Given the description of an element on the screen output the (x, y) to click on. 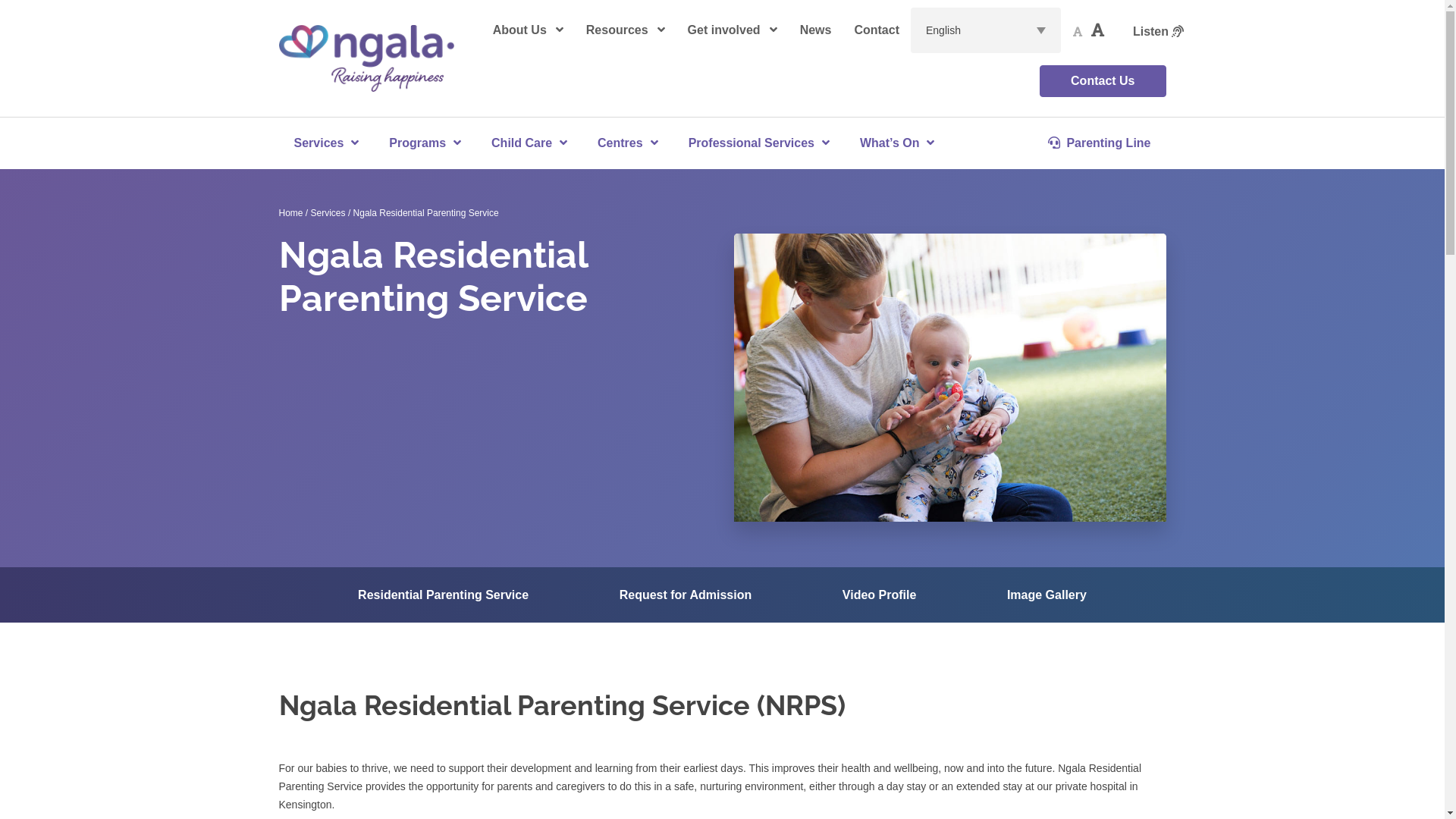
Image Gallery Element type: text (1046, 595)
Child Care Element type: text (529, 142)
Contact Element type: text (876, 30)
Listen Element type: text (1158, 31)
Video Profile Element type: text (879, 595)
Parenting Line Element type: text (1098, 142)
Services Element type: text (327, 212)
Contact Us Element type: text (1102, 81)
Centres Element type: text (627, 142)
Services Element type: text (326, 142)
Get involved Element type: text (732, 30)
News Element type: text (815, 30)
Residential Parenting Service Element type: text (442, 595)
Resources Element type: text (625, 30)
Professional Services Element type: text (758, 142)
Request for Admission Element type: text (685, 595)
Home Element type: text (291, 212)
About Us Element type: text (527, 30)
Programs Element type: text (424, 142)
